Given the description of an element on the screen output the (x, y) to click on. 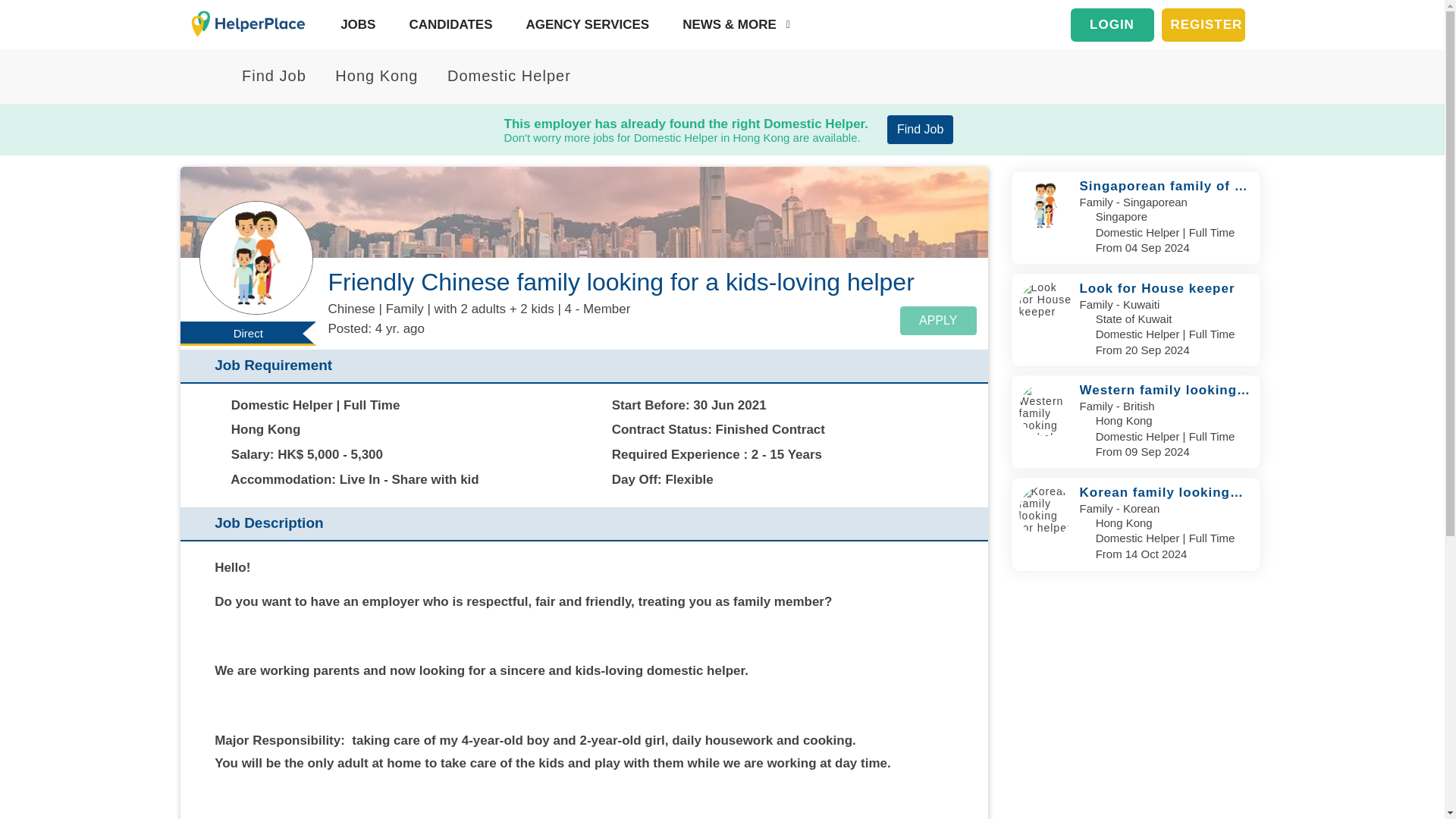
LOGIN (1112, 23)
CANDIDATES (446, 24)
Hong Kong (368, 75)
Find Job (919, 129)
AGENCY SERVICES (583, 24)
REGISTER (1202, 23)
Find Job (264, 75)
JOBS (354, 24)
APPLY (937, 320)
Domestic Helper (499, 75)
